Given the description of an element on the screen output the (x, y) to click on. 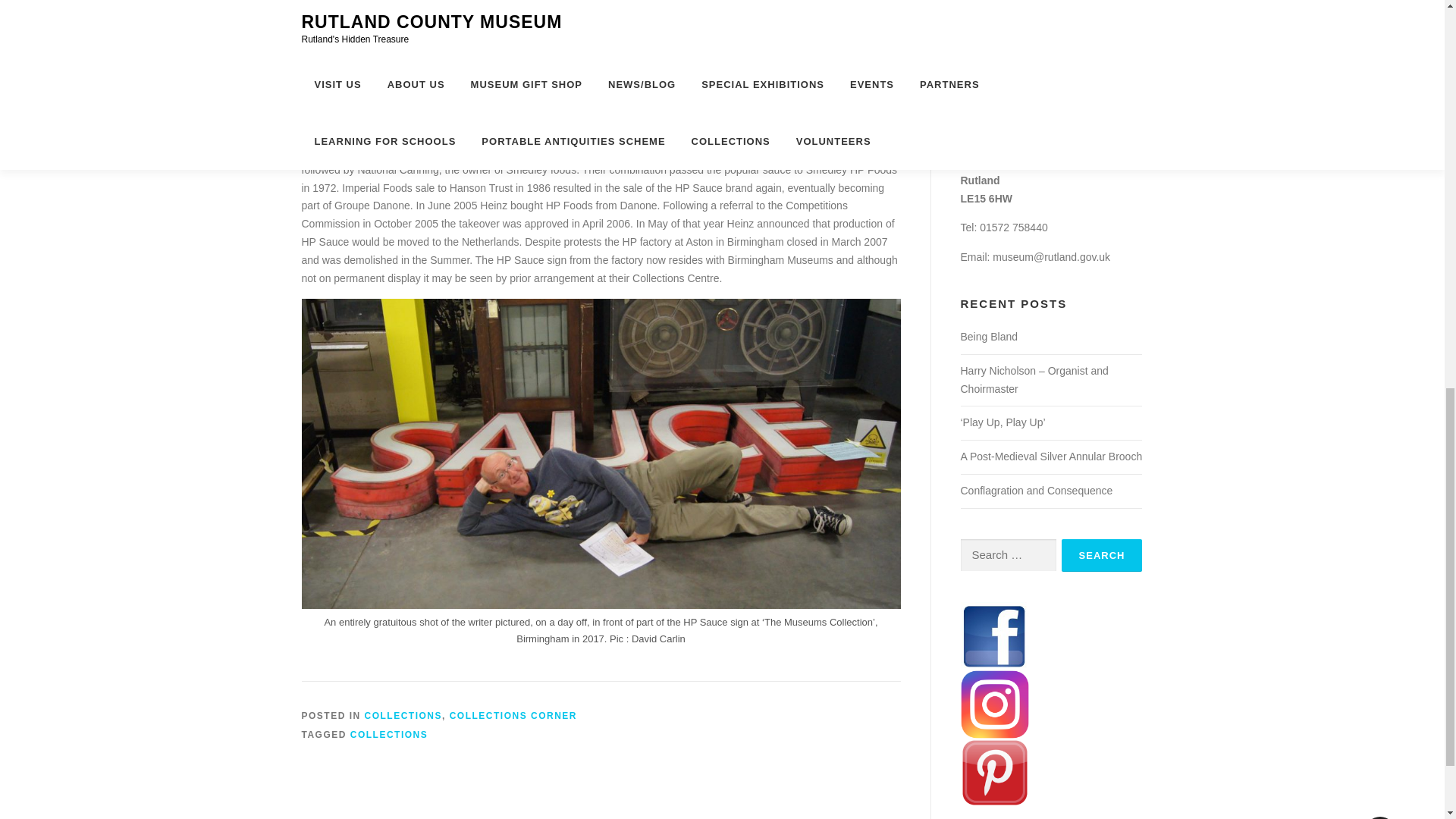
Search (1101, 554)
COLLECTIONS (389, 734)
COLLECTIONS CORNER (512, 715)
Being Bland (988, 336)
Search (1101, 554)
COLLECTIONS (403, 715)
Back To Top (1372, 814)
A Post-Medieval Silver Annular Brooch (1050, 456)
